Given the description of an element on the screen output the (x, y) to click on. 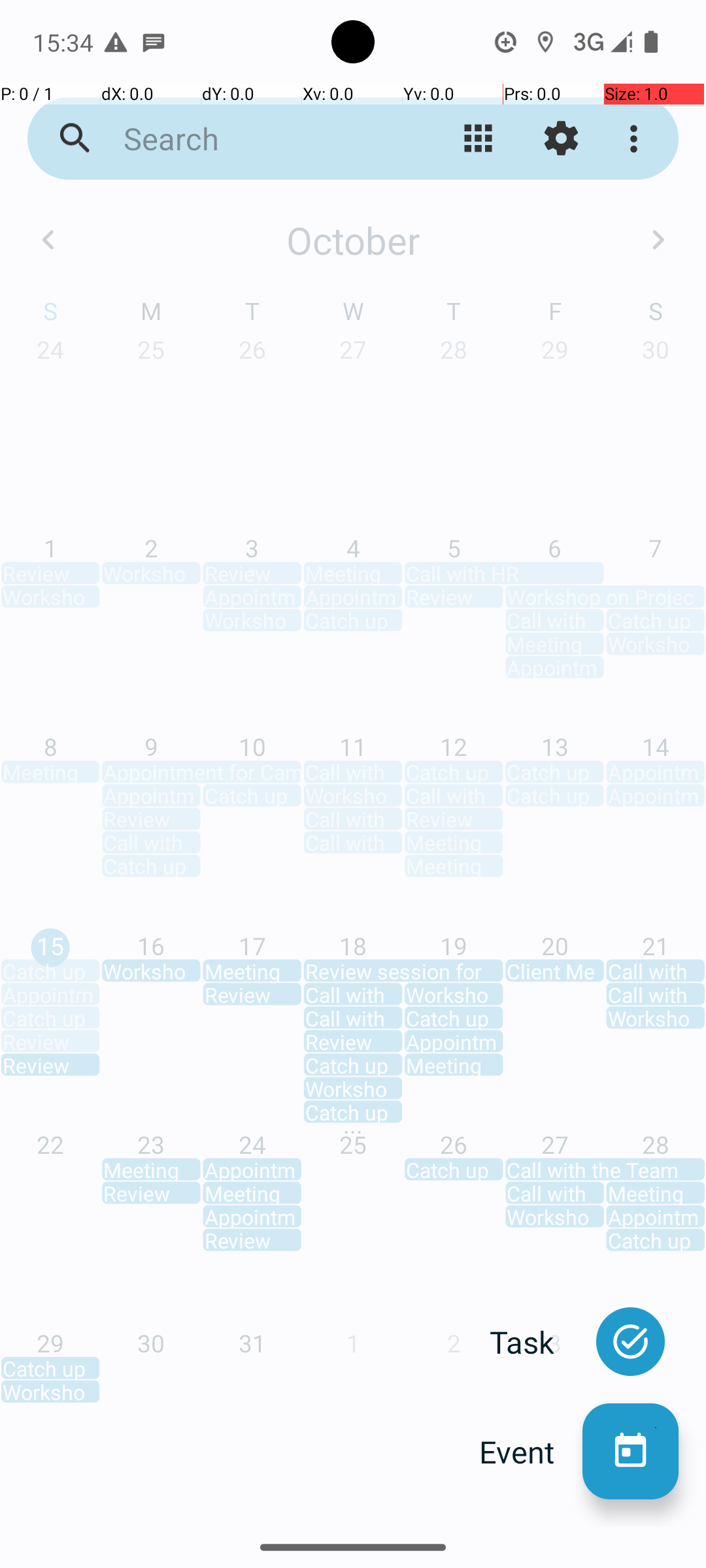
Task Element type: android.widget.TextView (535, 1341)
Event Element type: android.widget.TextView (530, 1451)
